Given the description of an element on the screen output the (x, y) to click on. 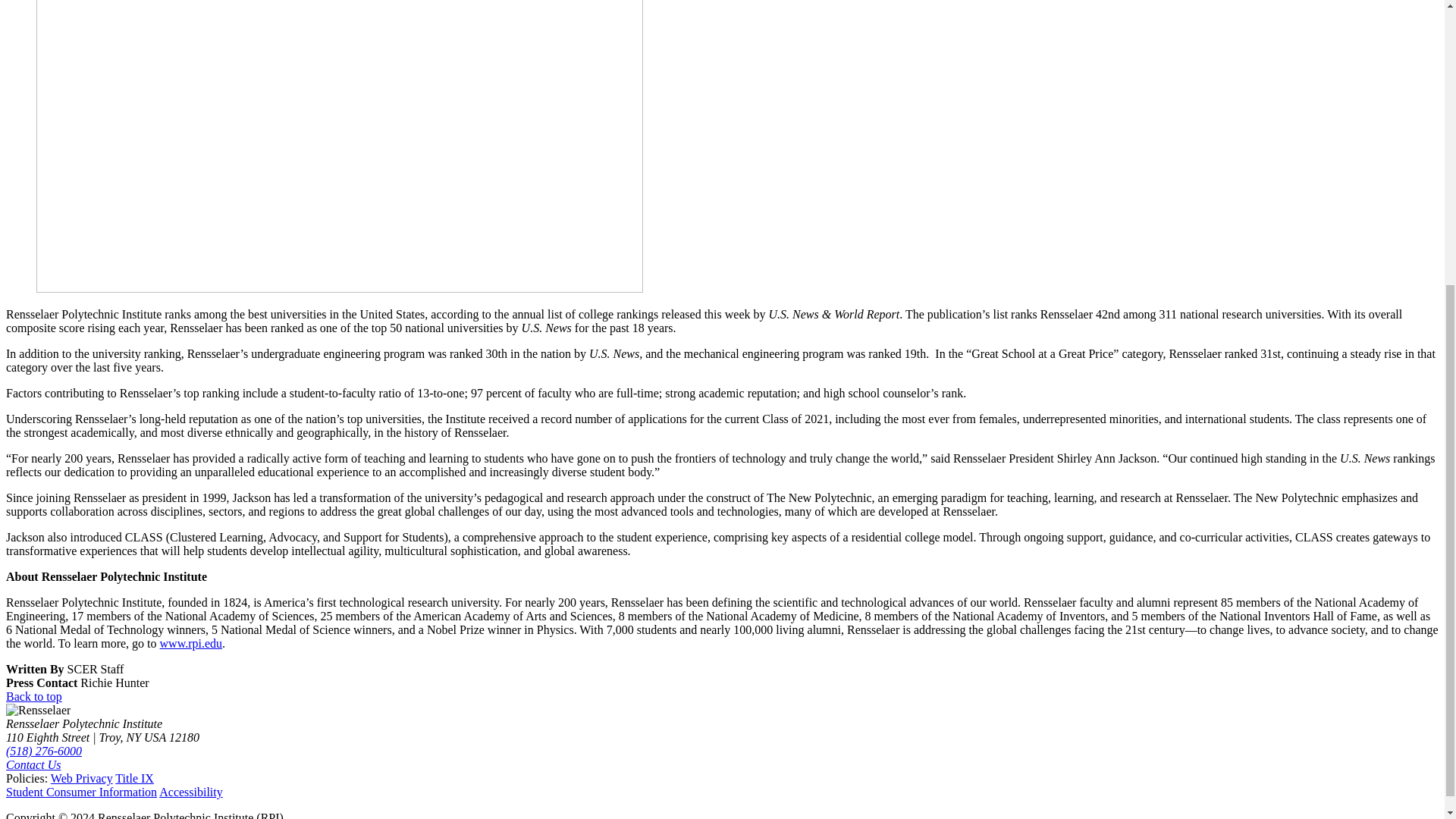
www.rpi.edu (191, 643)
Accessibility (190, 791)
Title IX (134, 778)
Back to top (33, 696)
Web Privacy (81, 778)
Contact Us (33, 764)
Student Consumer Information (81, 791)
